Given the description of an element on the screen output the (x, y) to click on. 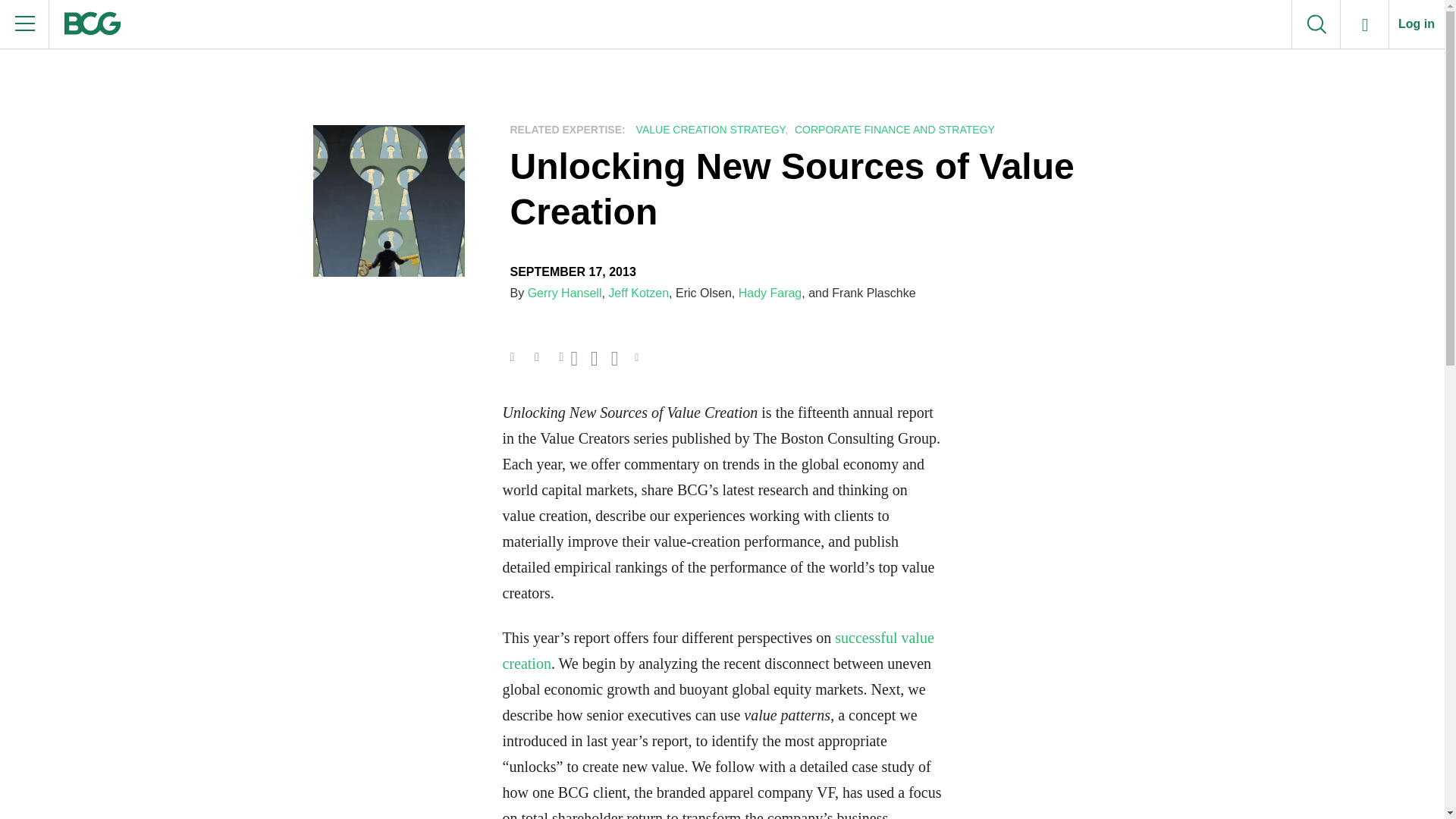
Gerry Hansell (564, 292)
CORPORATE FINANCE AND STRATEGY (892, 129)
Hady Farag (770, 292)
VALUE CREATION STRATEGY (708, 129)
Jeff Kotzen (638, 292)
successful value creation (717, 650)
Log in (1416, 24)
